Given the description of an element on the screen output the (x, y) to click on. 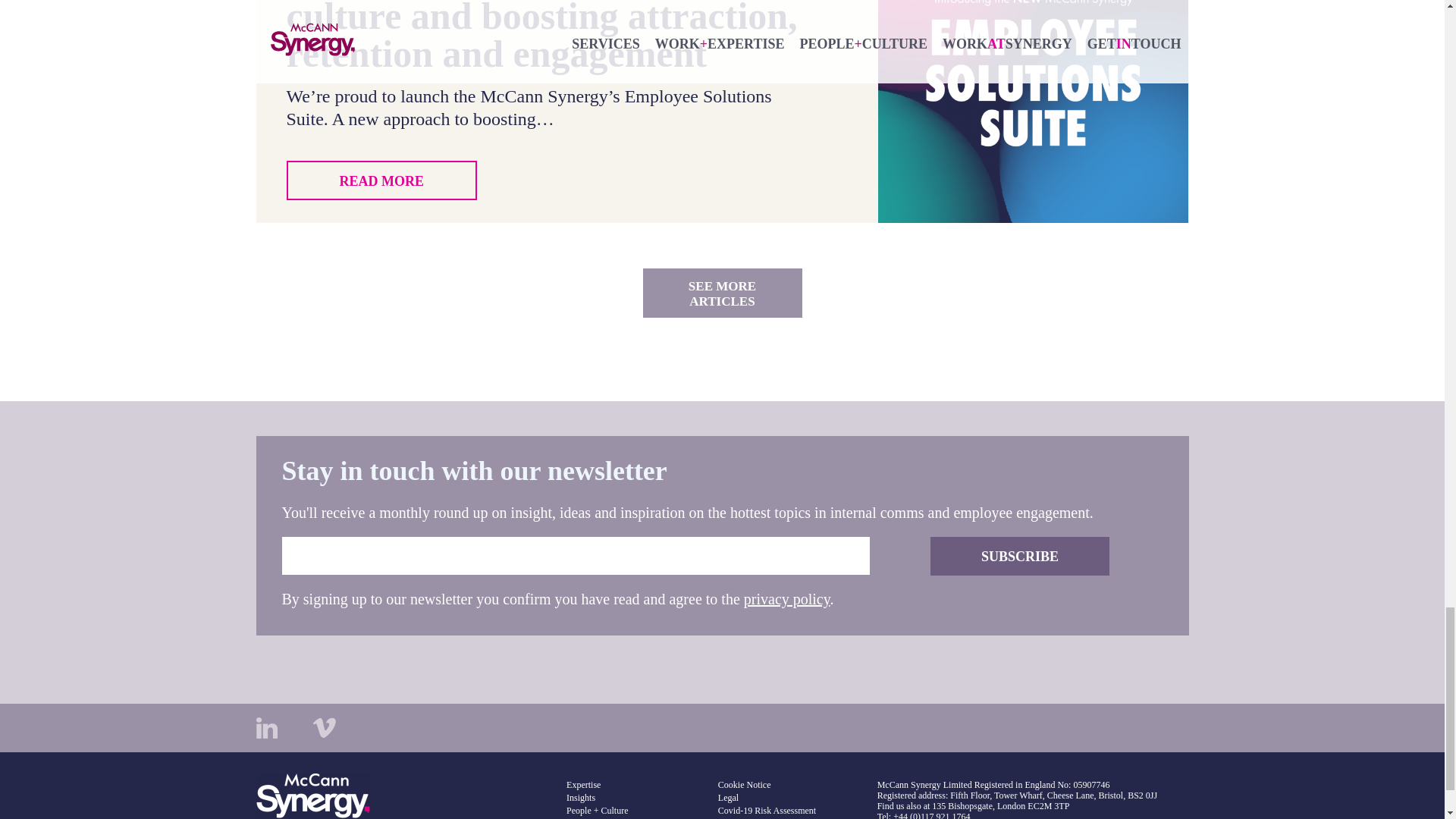
Covid-19 Risk Assessment (766, 810)
Subscribe (1019, 556)
Legal (727, 797)
privacy policy (786, 598)
Cookie Notice (744, 784)
Subscribe (1019, 556)
SEE MORE ARTICLES (722, 292)
Expertise (582, 784)
Insights (580, 797)
READ MORE (381, 179)
